Given the description of an element on the screen output the (x, y) to click on. 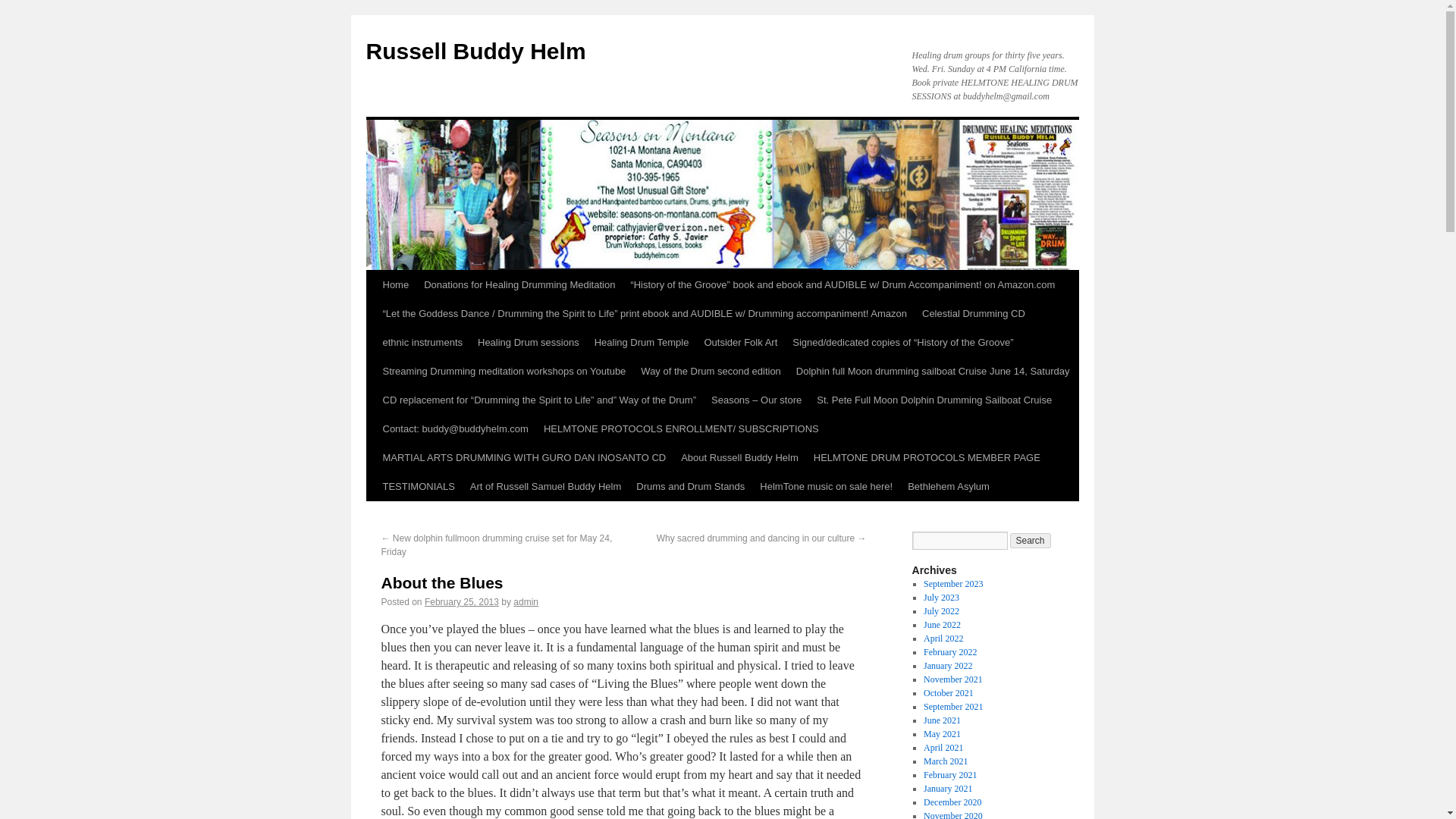
Russell Buddy Helm (475, 50)
ethnic instruments (422, 342)
View all posts by admin (525, 602)
Celestial Drumming CD (973, 313)
Drums and Drum Stands (690, 486)
Dolphin full Moon drumming sailboat Cruise June 14, Saturday (933, 371)
Art of Russell Samuel Buddy Helm (545, 486)
TESTIMONIALS (417, 486)
St. Pete Full Moon Dolphin Drumming Sailboat Cruise (934, 399)
Streaming Drumming meditation workshops on Youtube (503, 371)
